Given the description of an element on the screen output the (x, y) to click on. 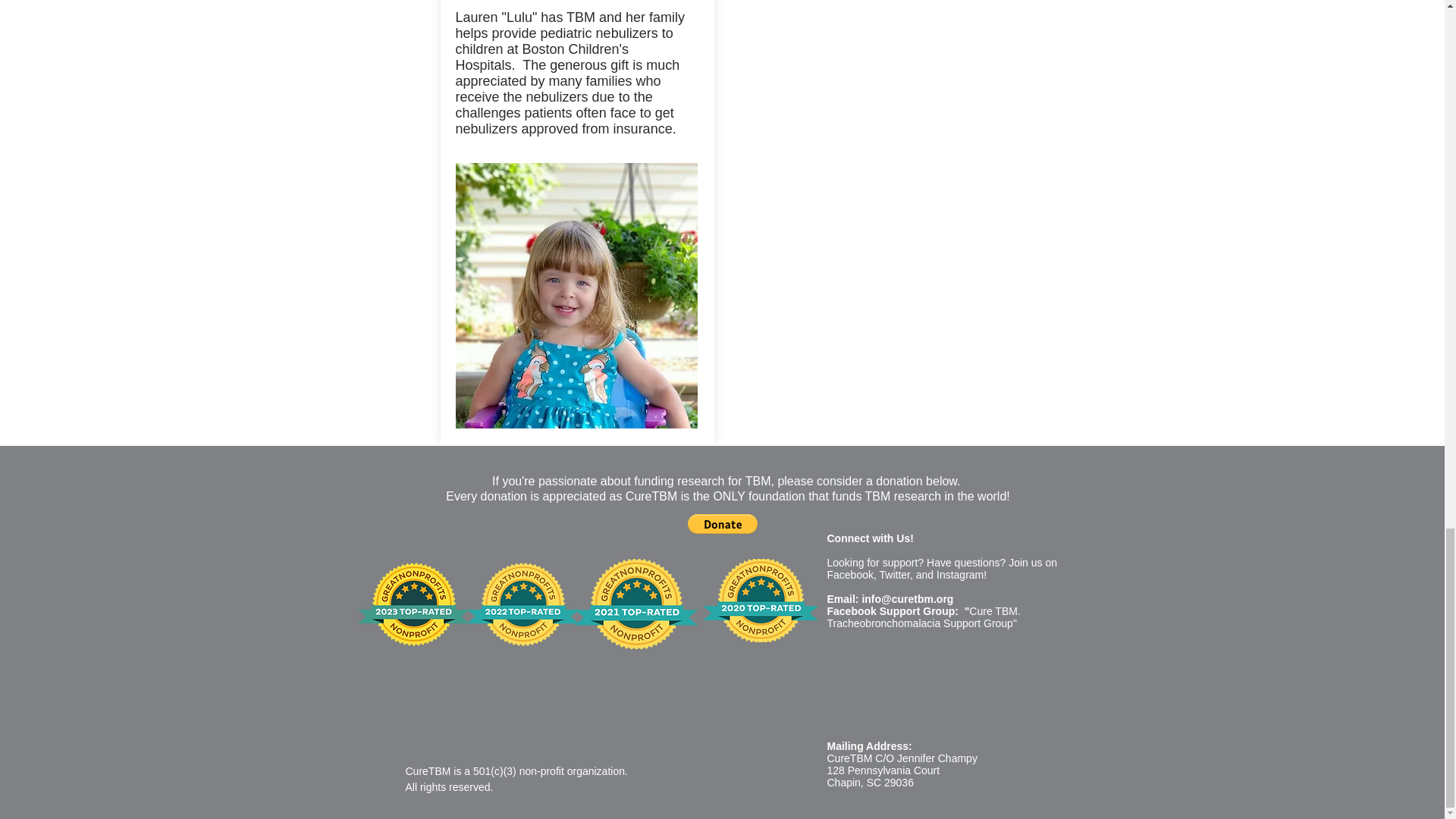
2023-top-rated-awards-badge-hi-res.png (413, 604)
